Given the description of an element on the screen output the (x, y) to click on. 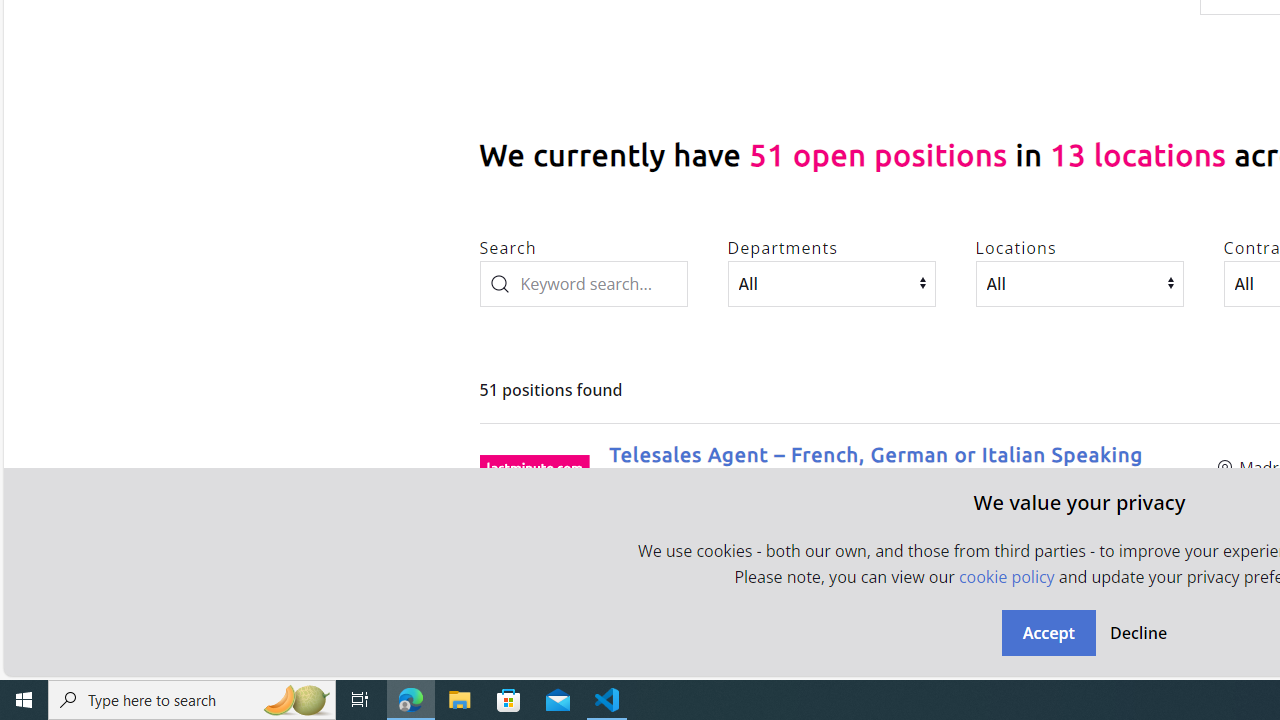
Full Stack Engineer (705, 631)
Decline (1137, 632)
Search (583, 283)
Locations (1079, 283)
Accept (1047, 632)
Departments (831, 283)
cookie policy (1005, 576)
